Given the description of an element on the screen output the (x, y) to click on. 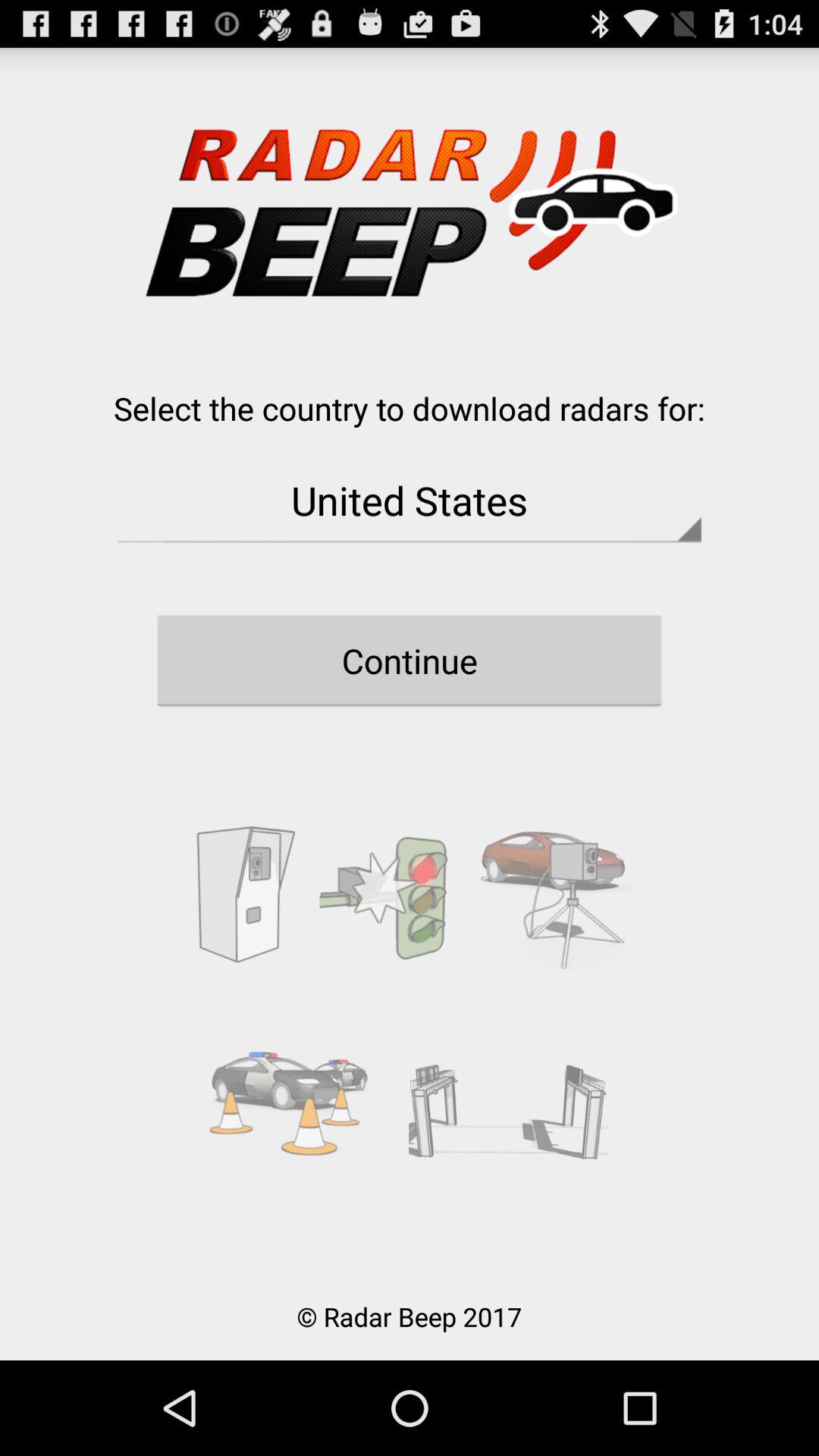
flip until the united states (409, 499)
